Given the description of an element on the screen output the (x, y) to click on. 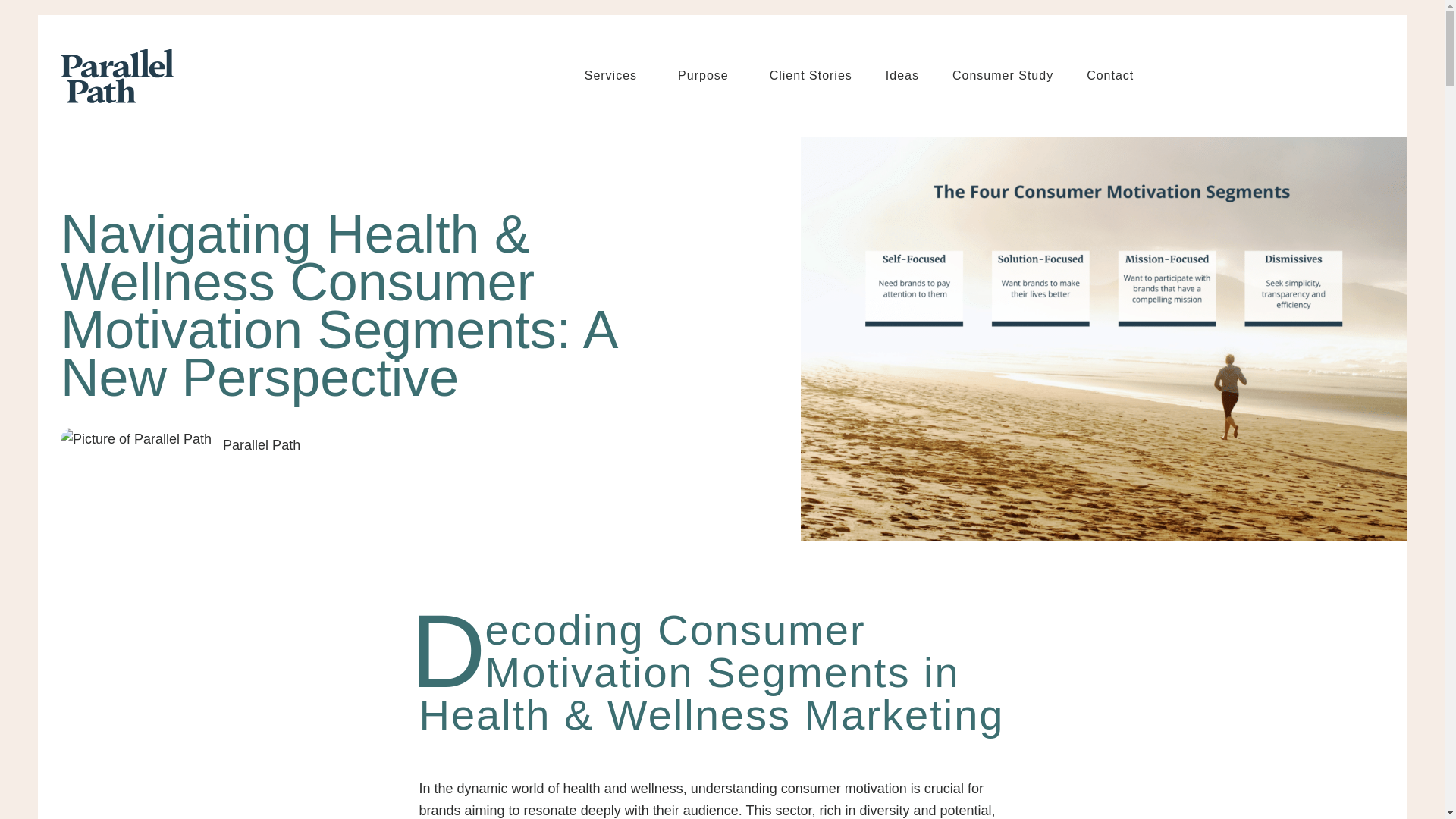
Client Stories (810, 75)
Contact (1110, 75)
Ideas (902, 75)
Services (614, 75)
Purpose (706, 75)
Consumer Study (1003, 75)
